Given the description of an element on the screen output the (x, y) to click on. 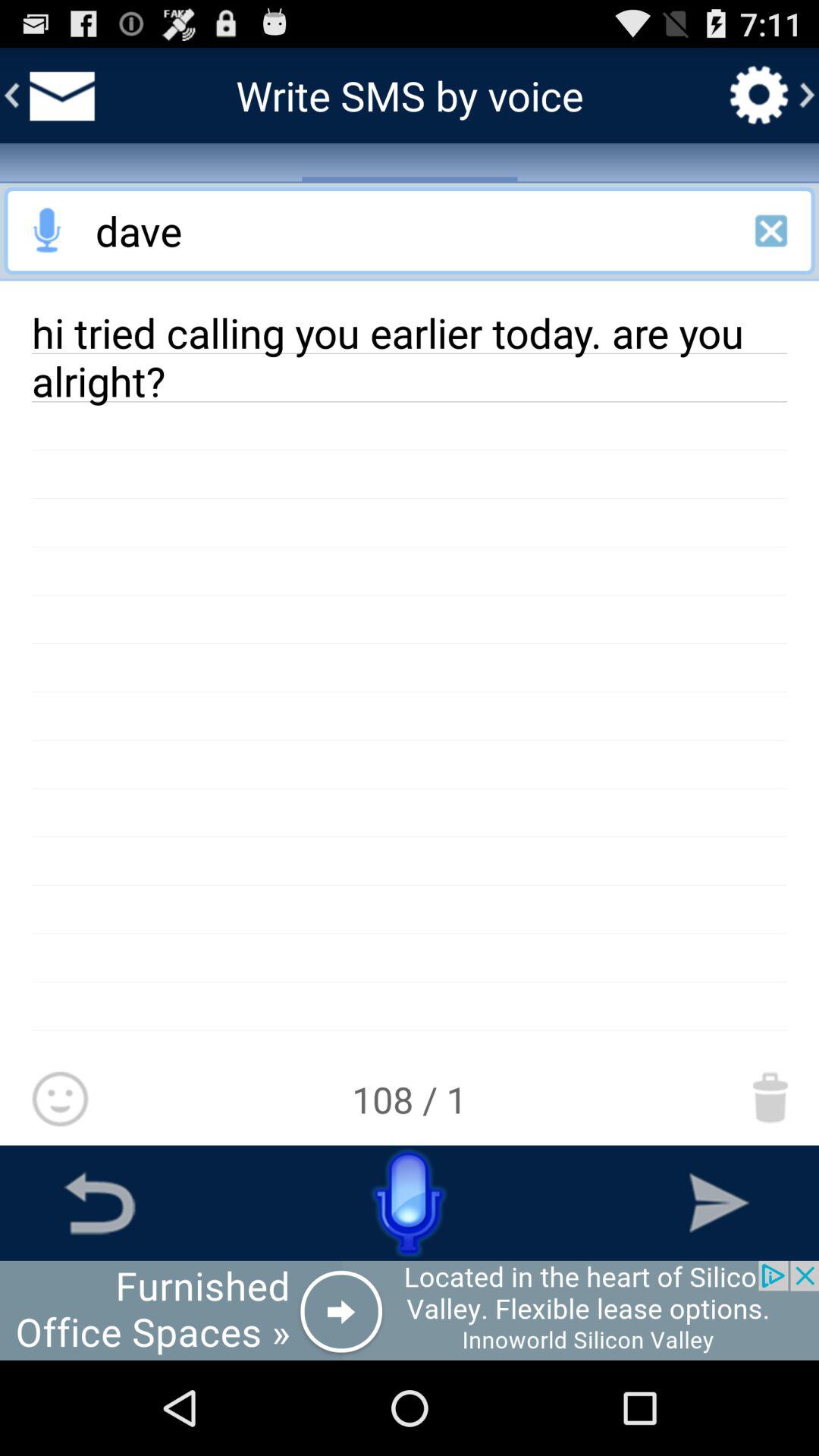
open emoticons bar (59, 1099)
